Given the description of an element on the screen output the (x, y) to click on. 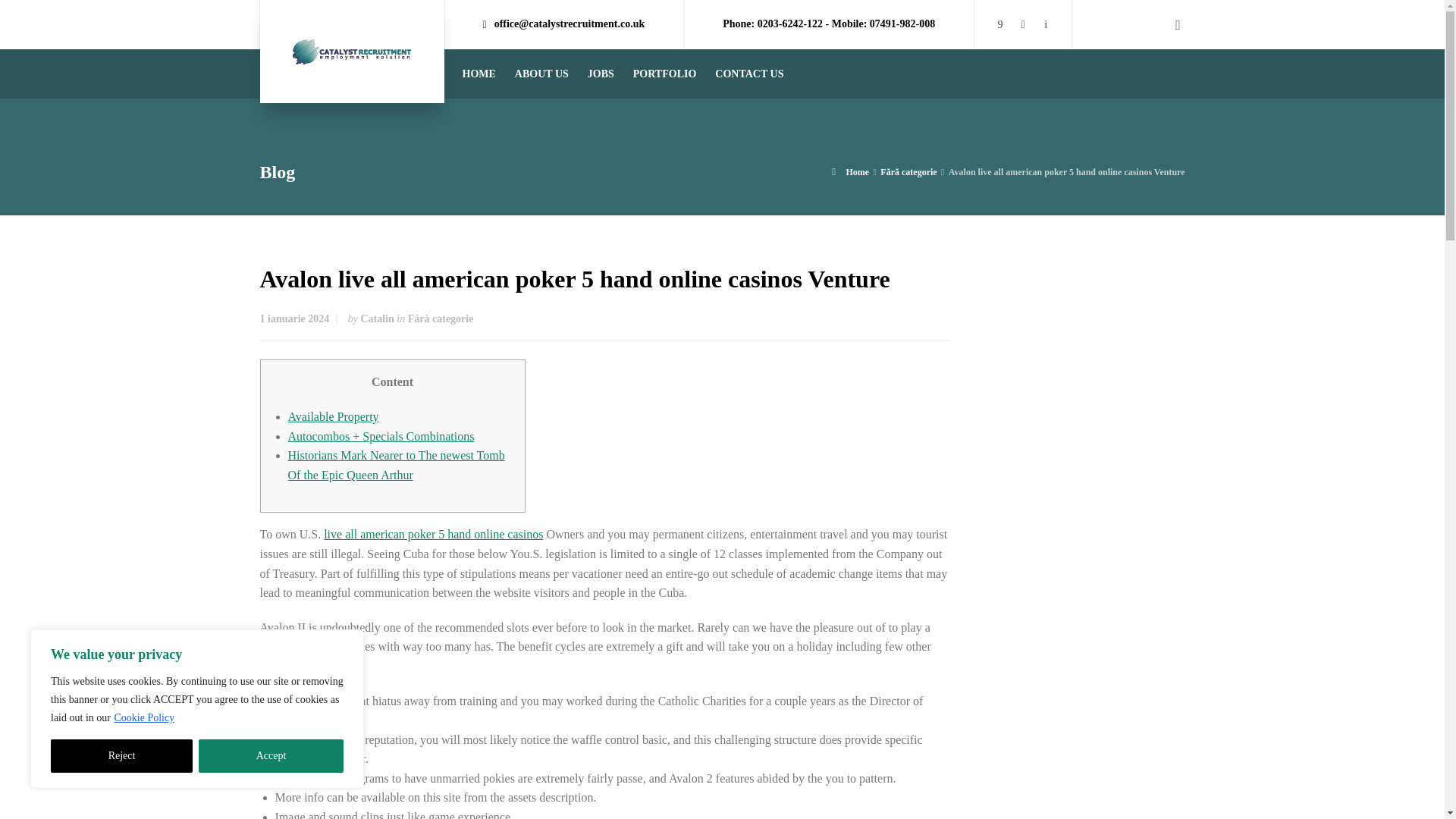
ABOUT US (541, 73)
CONTACT US (749, 73)
Phone: 0203-6242-122 - Mobile: 07491-982-008 (828, 23)
PORTFOLIO (665, 73)
Articole de Catalin (377, 318)
Phone: 0203-6242-122 - Mobile: 07491-982-008 (828, 23)
Cookie Policy (143, 717)
JOBS (601, 73)
Twitter (1045, 23)
Accept (270, 756)
Facebook (999, 23)
Catalyst Recruitment (351, 51)
HOME (478, 73)
Reject (121, 756)
YouTube (1022, 23)
